Given the description of an element on the screen output the (x, y) to click on. 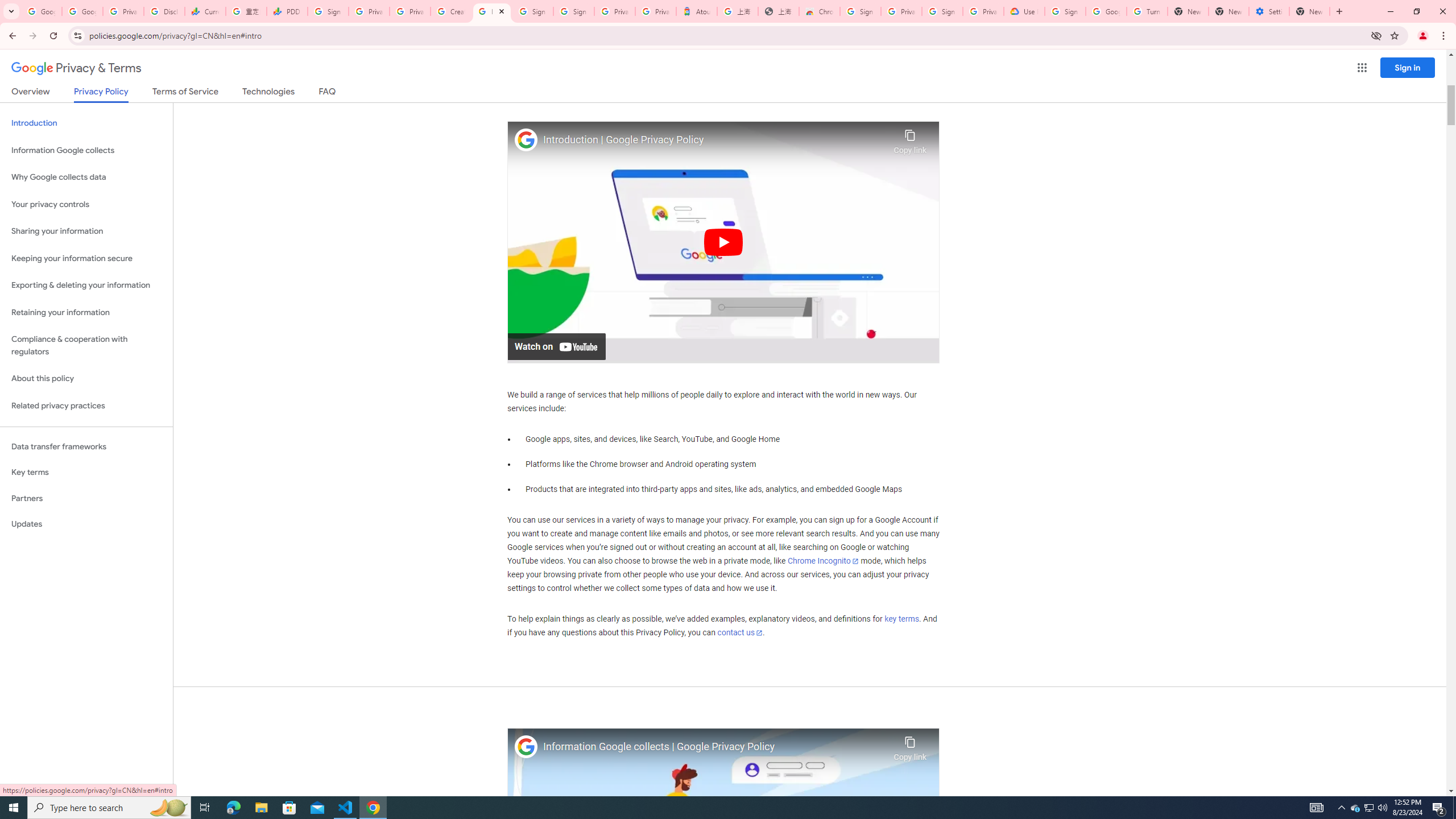
Copy link (909, 745)
Sign in - Google Accounts (532, 11)
Sign in - Google Accounts (1064, 11)
Google Account Help (1105, 11)
Sign in - Google Accounts (573, 11)
